Given the description of an element on the screen output the (x, y) to click on. 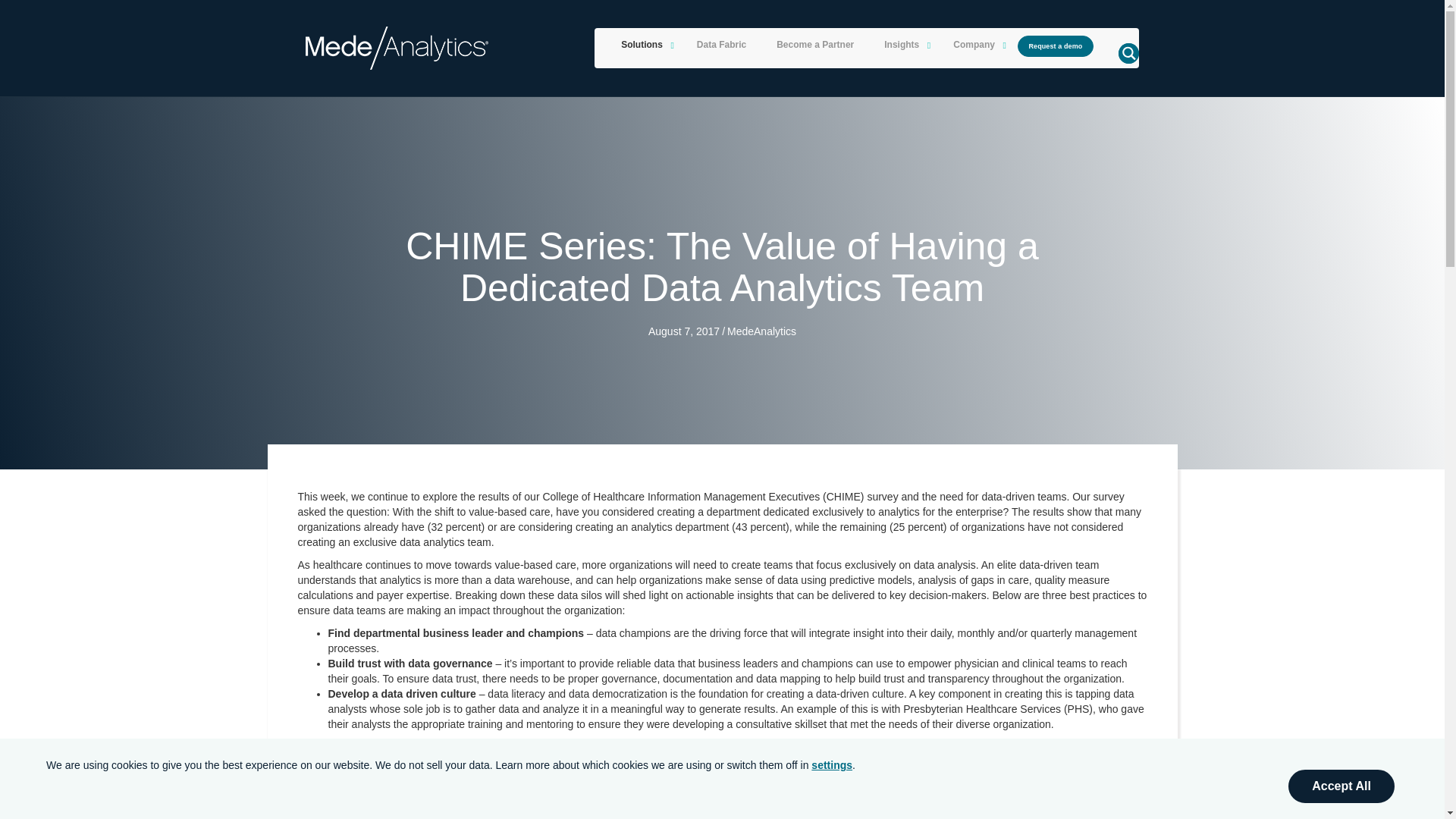
Insights (903, 45)
Social-logo-linkedin (360, 715)
Social-logo-facebook (319, 715)
Data Fabric (721, 45)
Click Here (1055, 46)
Become a Partner (815, 45)
